Given the description of an element on the screen output the (x, y) to click on. 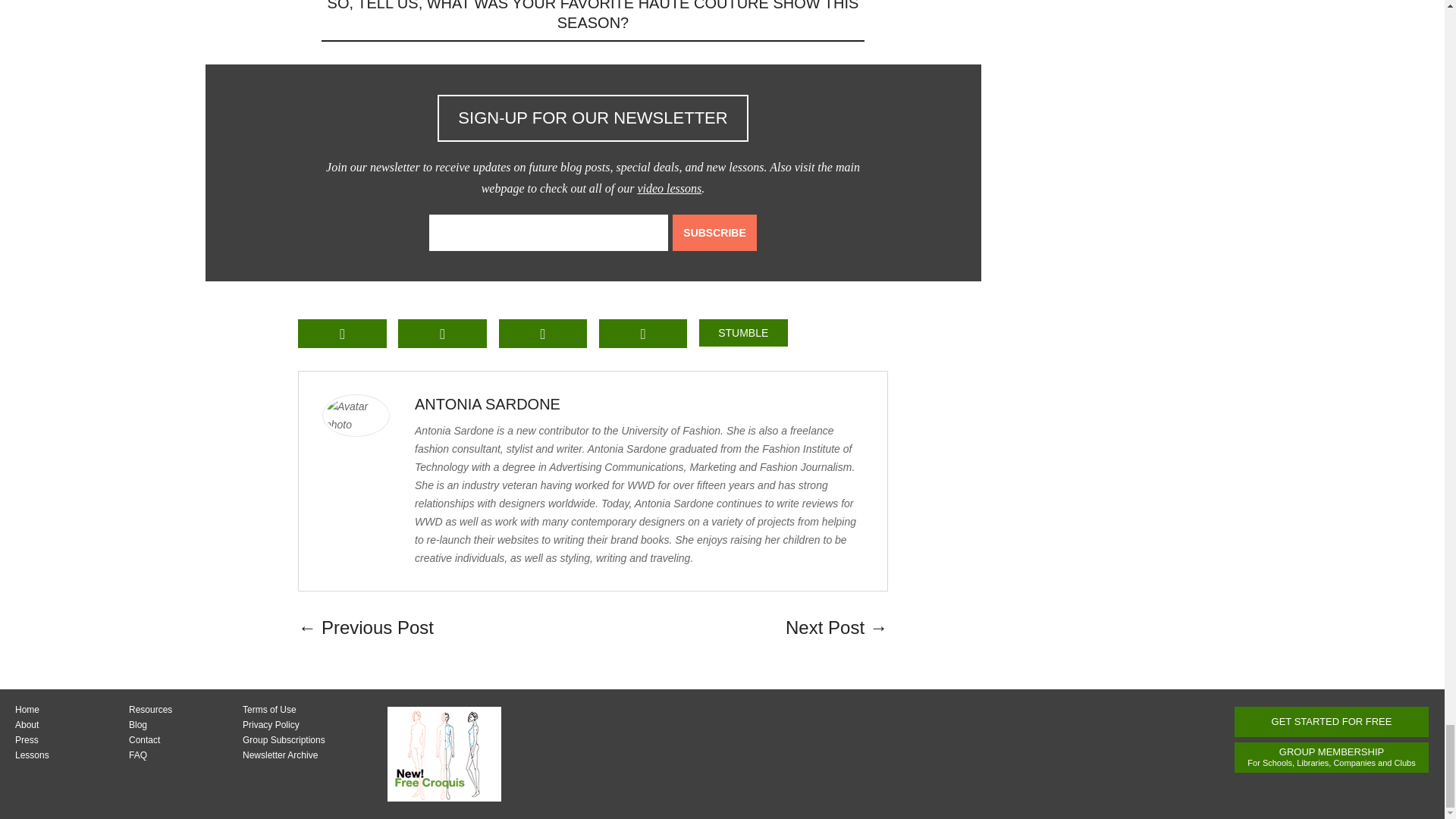
Subscribe (713, 232)
